Given the description of an element on the screen output the (x, y) to click on. 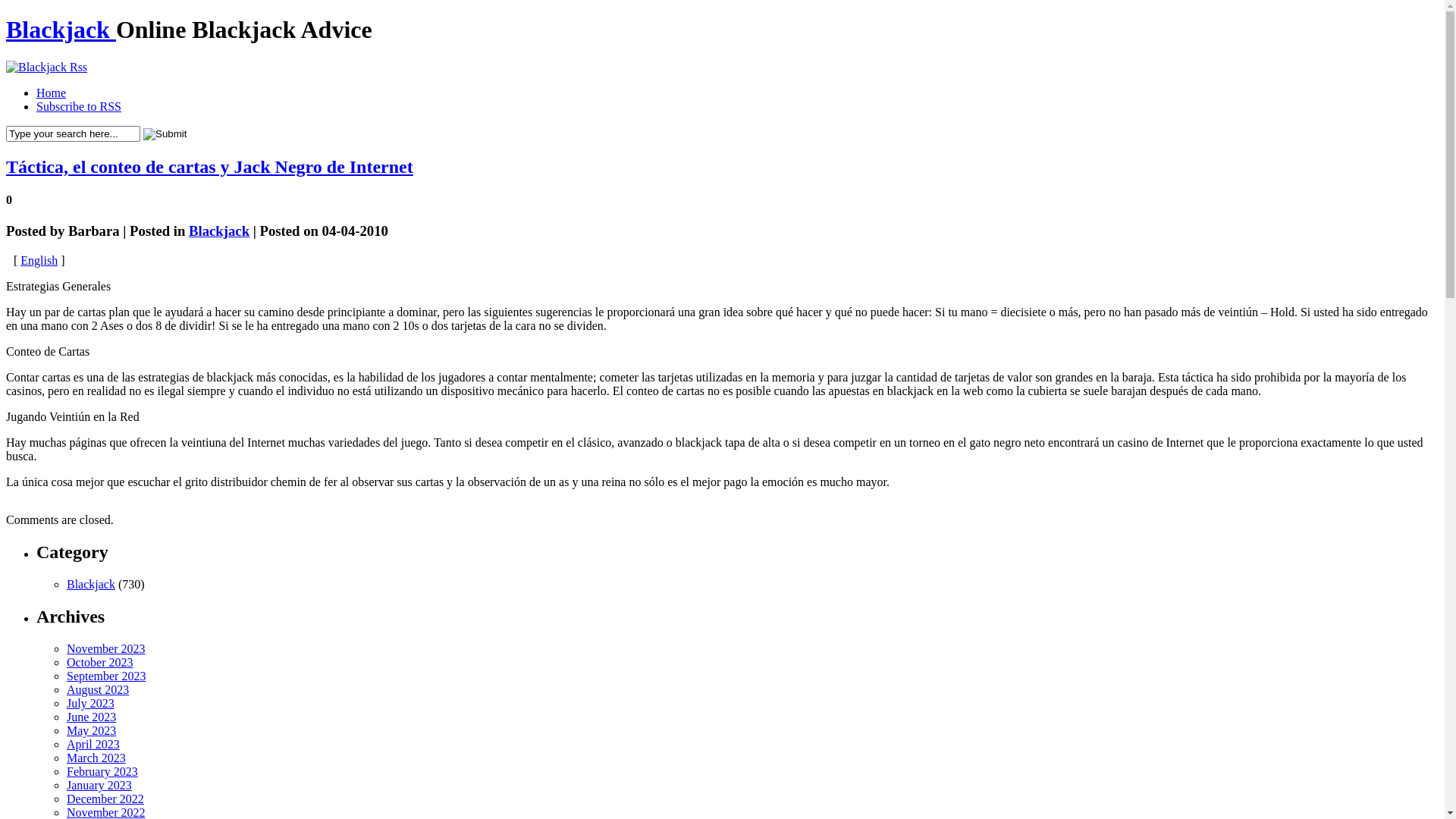
September 2023 Element type: text (105, 675)
May 2023 Element type: text (91, 730)
Blackjack Element type: text (218, 230)
July 2023 Element type: text (90, 702)
Blackjack Element type: text (61, 29)
March 2023 Element type: text (95, 757)
English Element type: text (38, 260)
October 2023 Element type: text (99, 661)
December 2022 Element type: text (105, 798)
Rss Element type: hover (46, 66)
November 2023 Element type: text (105, 648)
Type your search here... Element type: text (73, 133)
January 2023 Element type: text (98, 784)
February 2023 Element type: text (102, 771)
Blackjack Element type: text (90, 583)
August 2023 Element type: text (97, 689)
April 2023 Element type: text (92, 743)
June 2023 Element type: text (91, 716)
Home Element type: text (50, 92)
Subscribe to RSS Element type: text (78, 106)
